Given the description of an element on the screen output the (x, y) to click on. 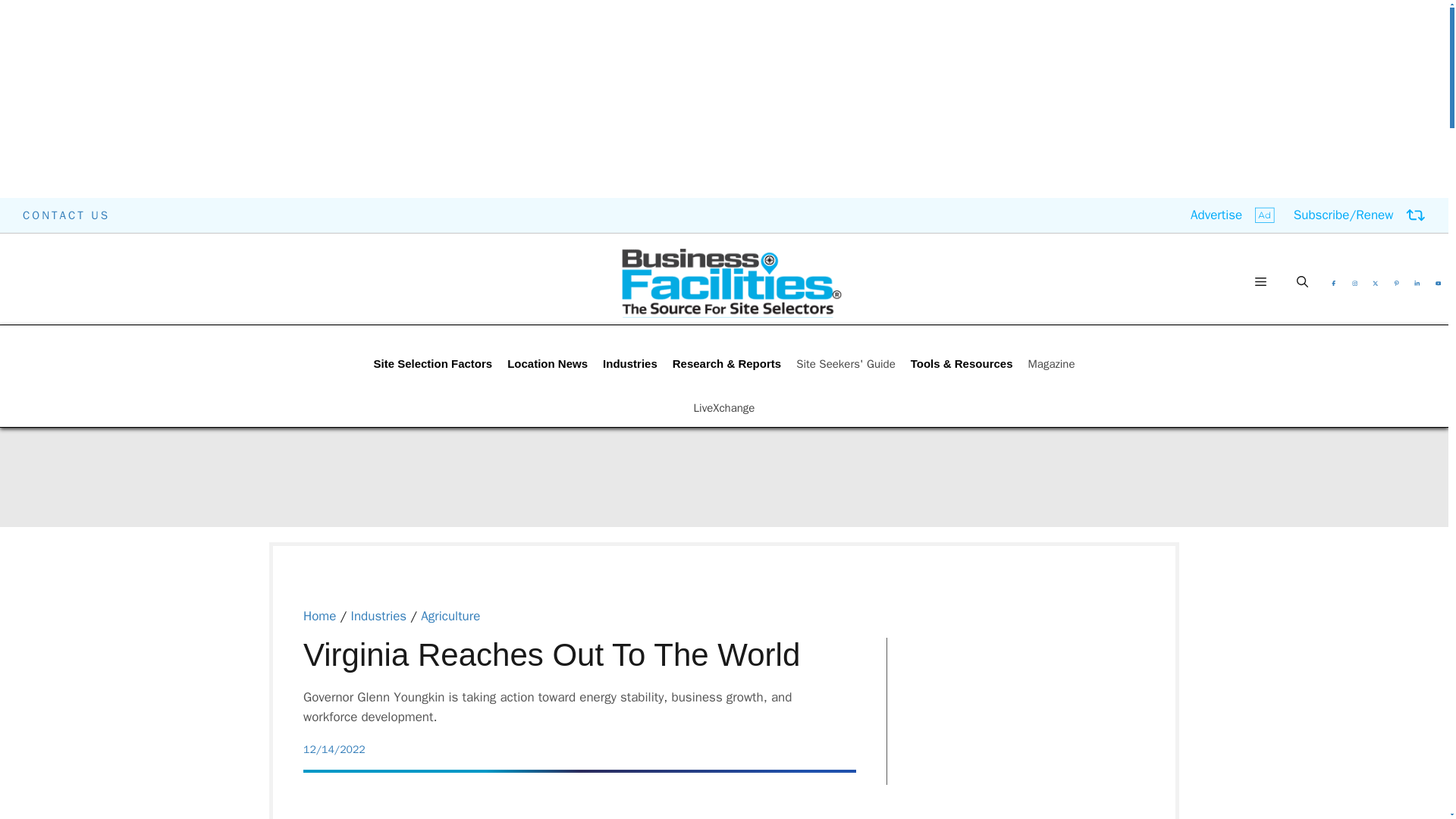
Location News (547, 364)
Business Facilities Magazine (731, 281)
CONTACT US (66, 214)
Site Selection Factors (432, 364)
Advertise (1233, 215)
